Given the description of an element on the screen output the (x, y) to click on. 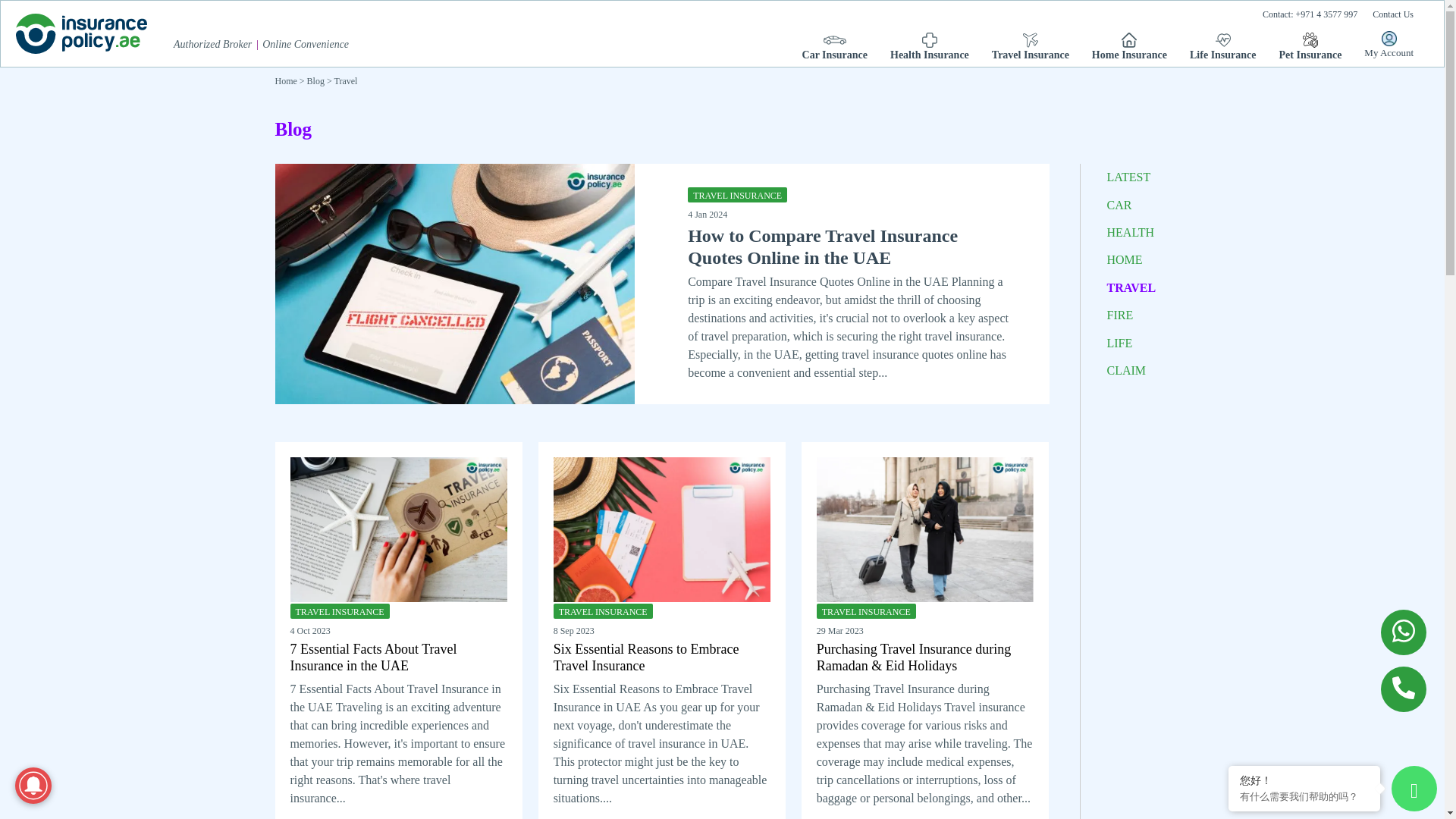
Travel Insurance (1030, 45)
Car Insurance (834, 45)
Life Insurance (1222, 45)
Home Insurance (1129, 45)
Contact Us (1393, 14)
Health Insurance (929, 45)
My Account (1388, 44)
Travel (346, 80)
Go to Travel. (346, 80)
Pet Insurance (1310, 45)
